Given the description of an element on the screen output the (x, y) to click on. 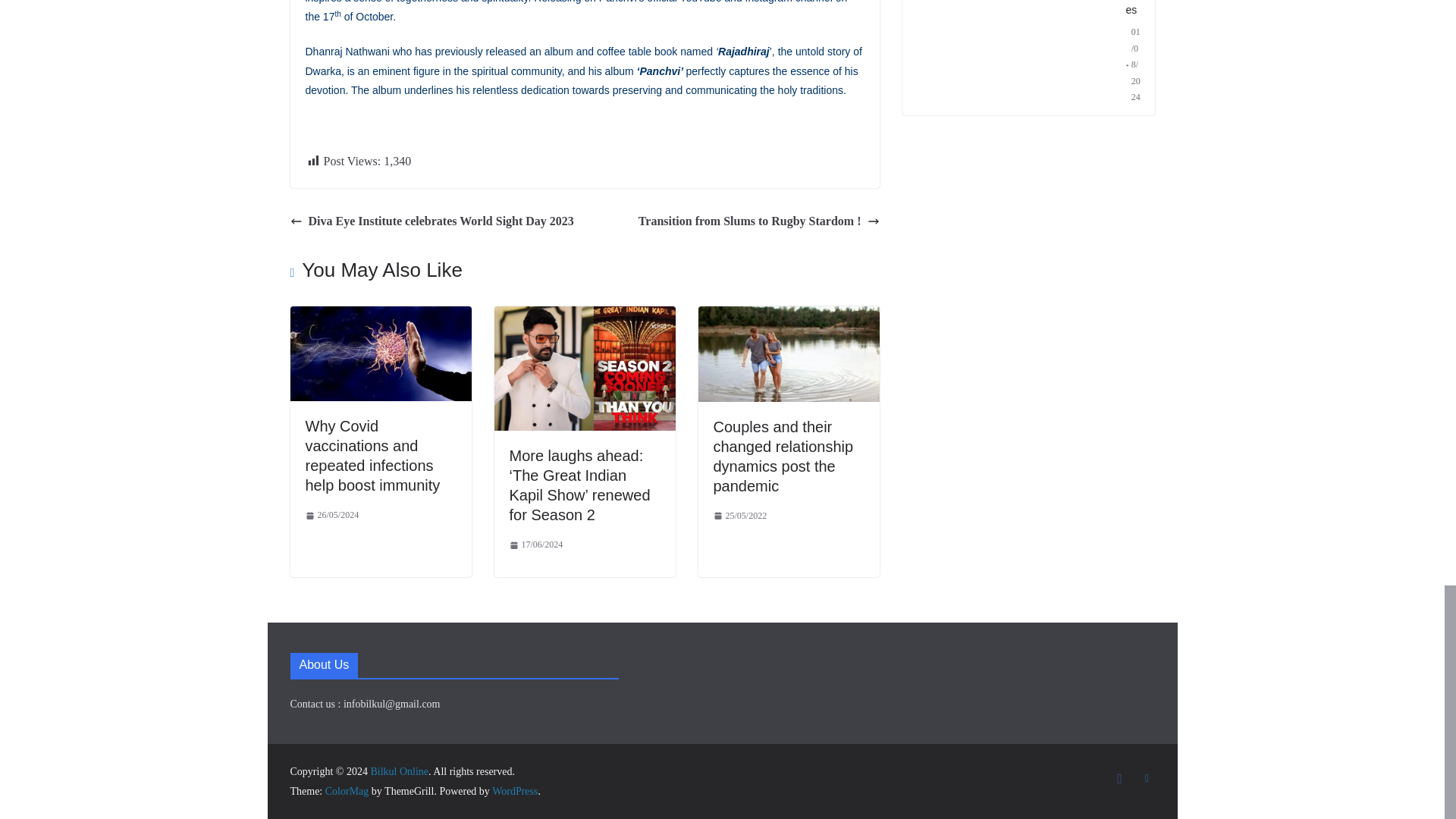
12:05 pm (331, 515)
Transition from Slums to Rugby Stardom ! (759, 221)
Diva Eye Institute celebrates World Sight Day 2023 (431, 221)
